Given the description of an element on the screen output the (x, y) to click on. 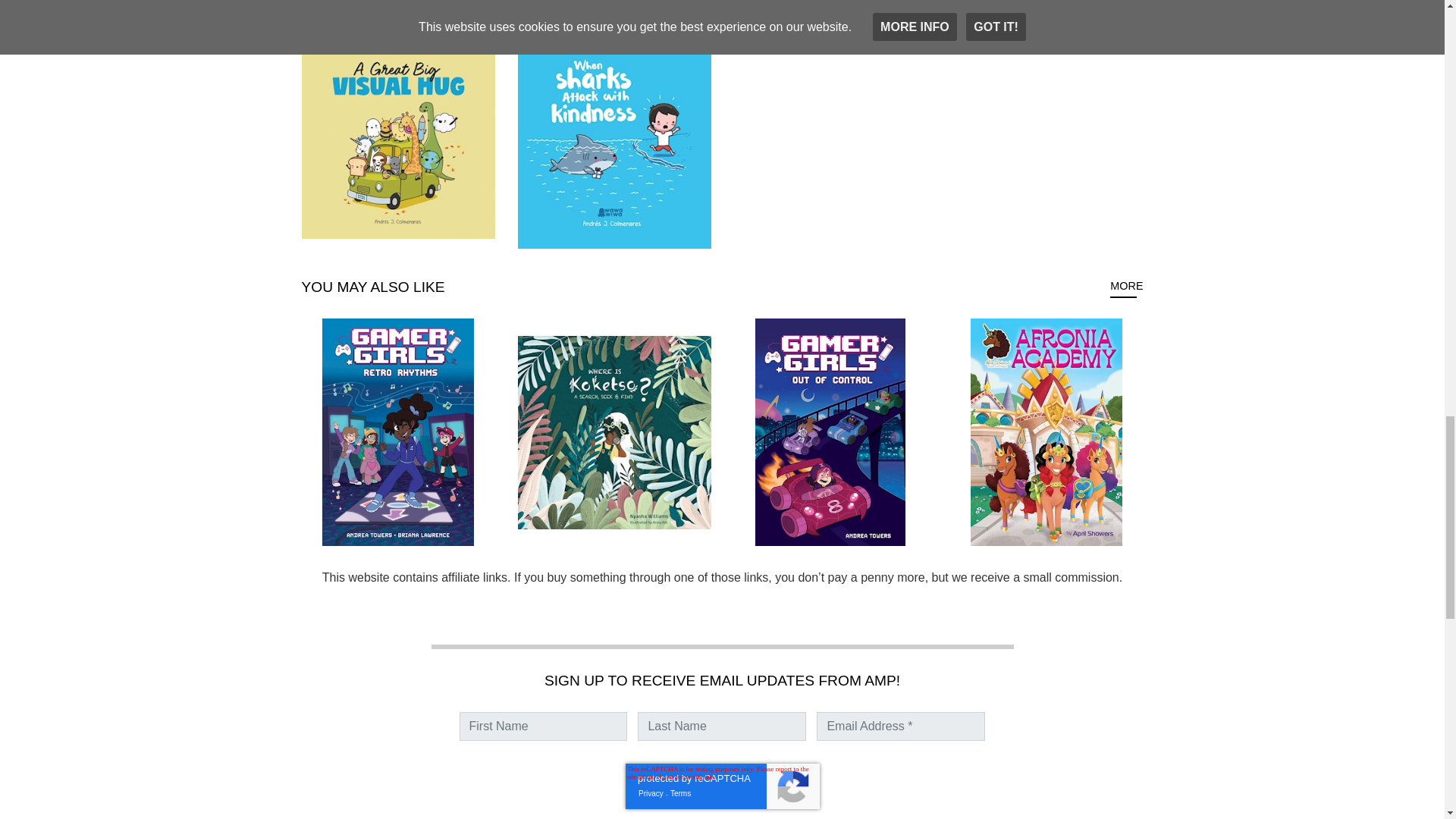
reCAPTCHA (721, 786)
